Given the description of an element on the screen output the (x, y) to click on. 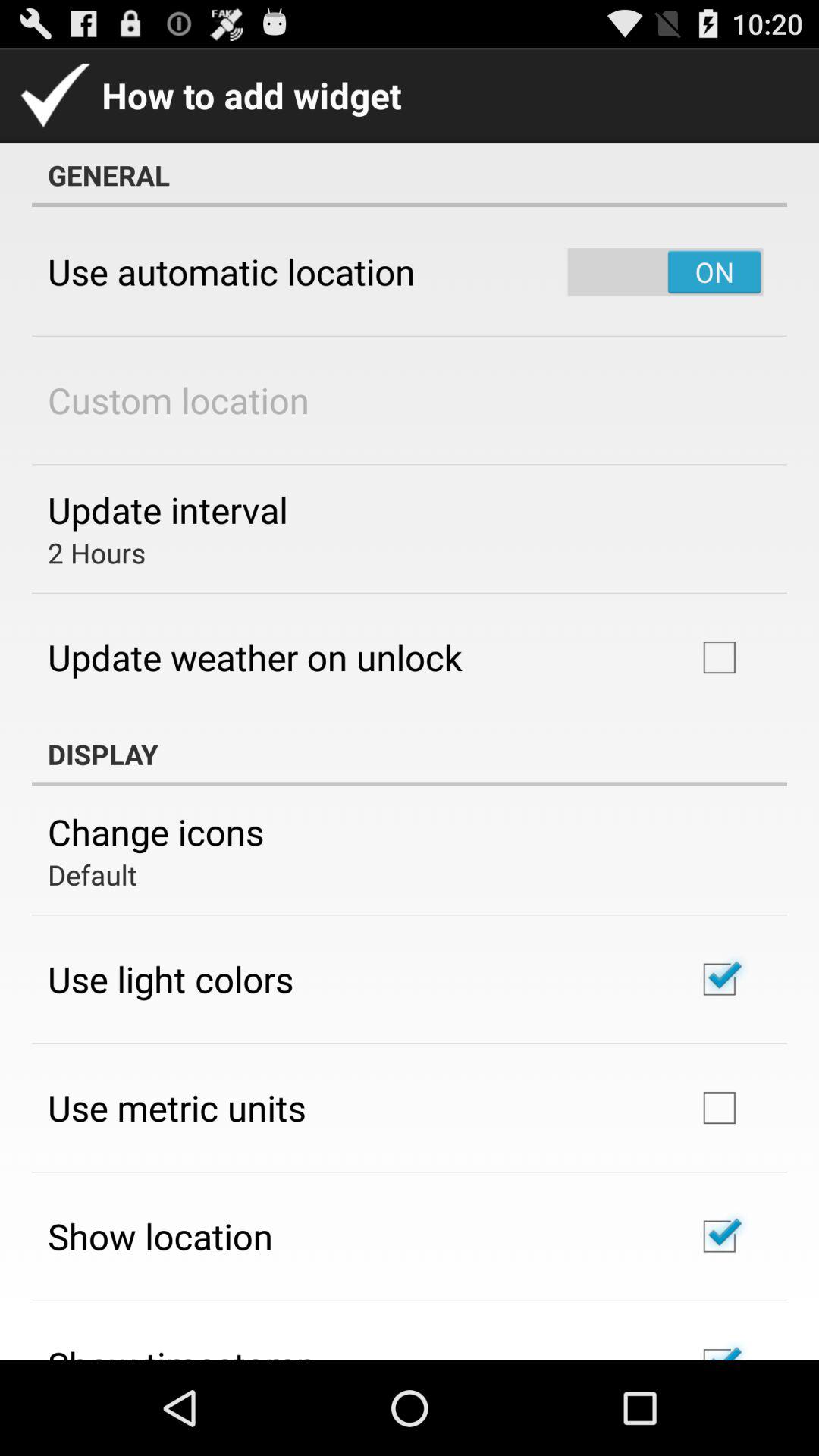
turn off the display app (409, 754)
